Given the description of an element on the screen output the (x, y) to click on. 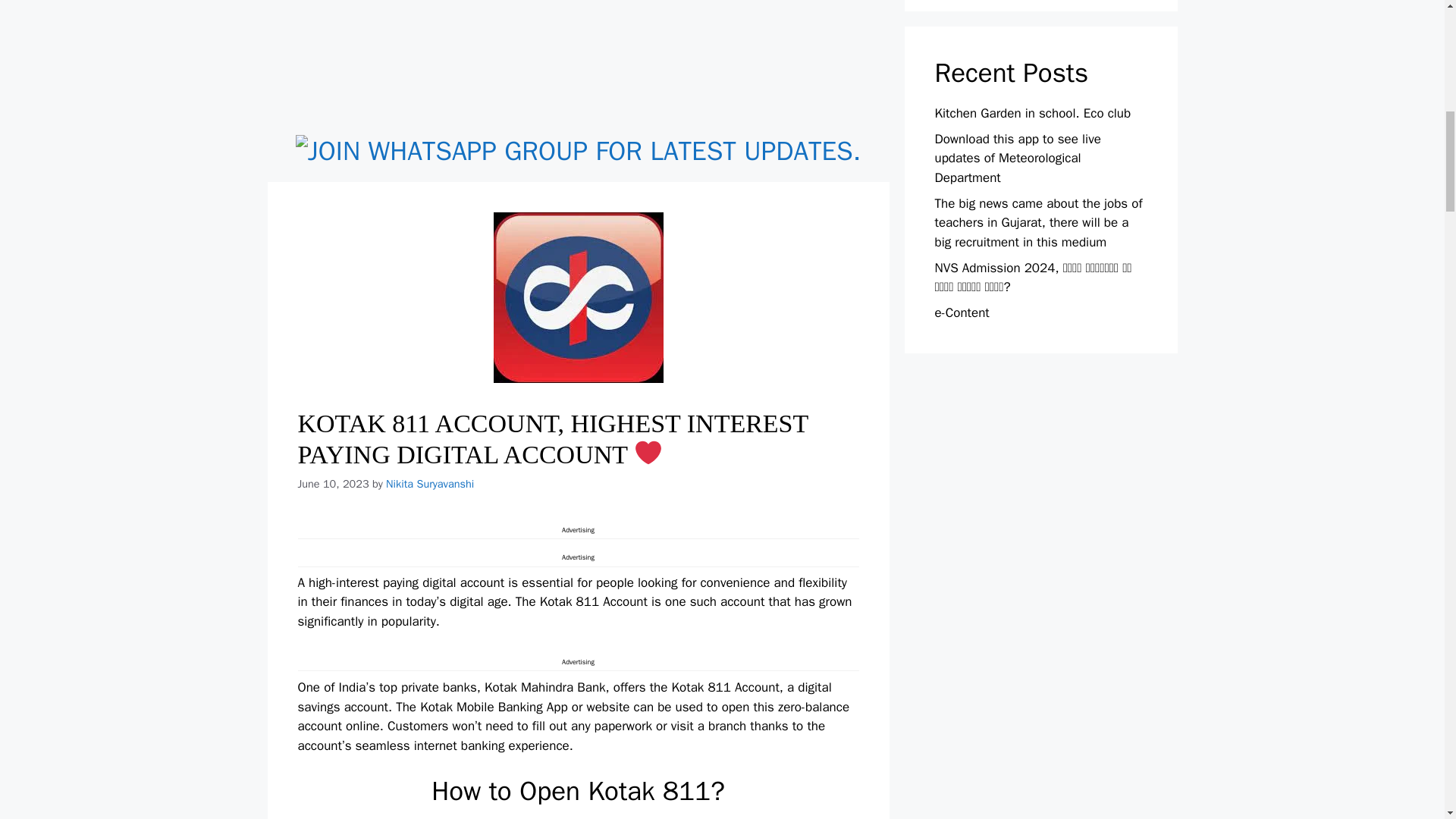
e-Content (961, 312)
Kitchen Garden in school. Eco club (1032, 113)
View all posts by Nikita Suryavanshi (429, 483)
Nikita Suryavanshi (429, 483)
Advertisement (577, 64)
